Given the description of an element on the screen output the (x, y) to click on. 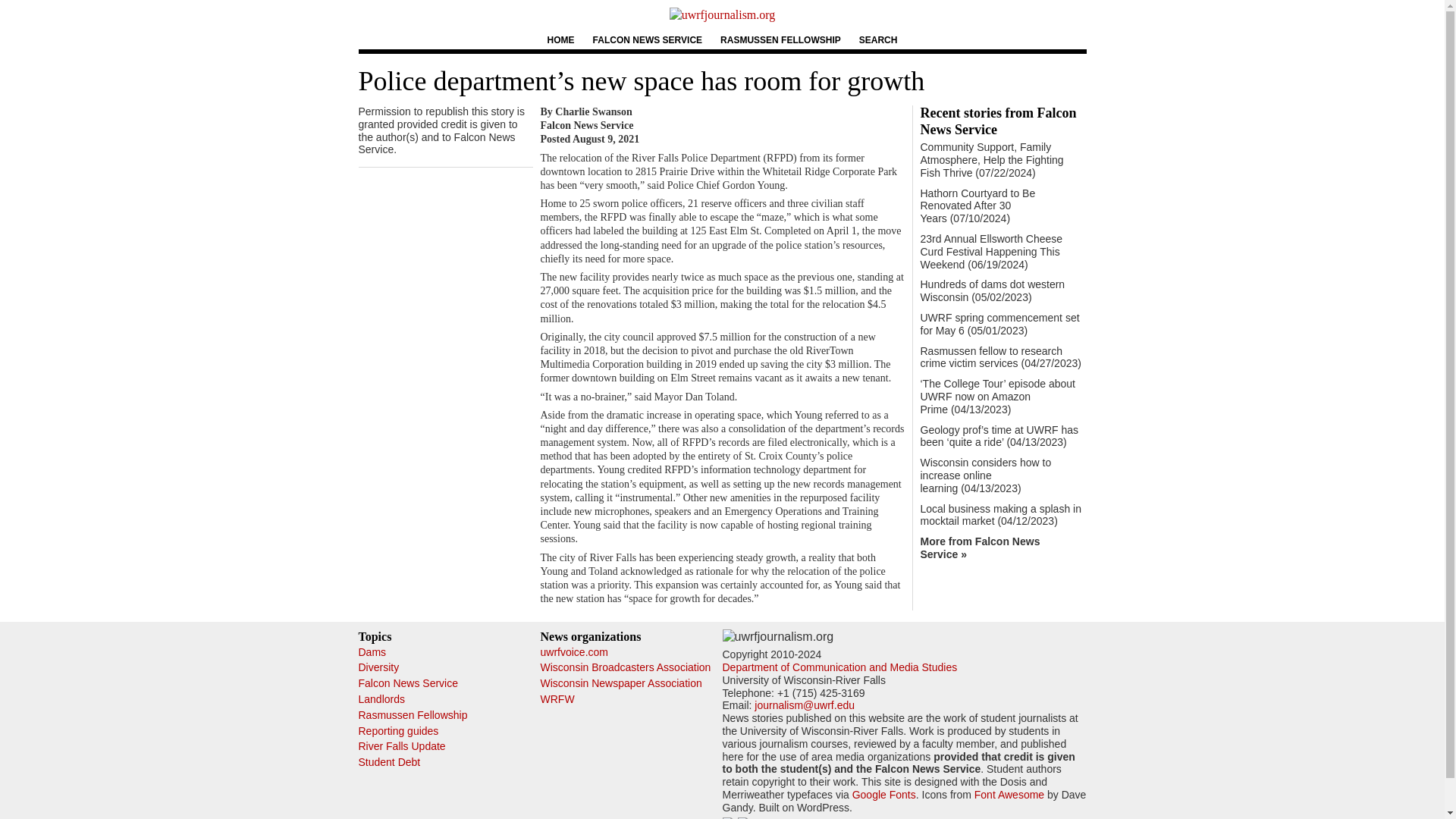
RASMUSSEN FELLOWSHIP (780, 40)
Diversity (378, 666)
Wisconsin Broadcasters Association (625, 666)
uwrfvoice.com (573, 652)
Department of Communication and Media Studies (839, 666)
Rasmussen Fellowship (412, 715)
Google Fonts (883, 794)
Landlords (381, 698)
Dams (371, 652)
Reporting guides (398, 730)
SEARCH (878, 40)
FALCON NEWS SERVICE (646, 40)
Website of the Student Voice, the weekly campus newspaper. (573, 652)
